Given the description of an element on the screen output the (x, y) to click on. 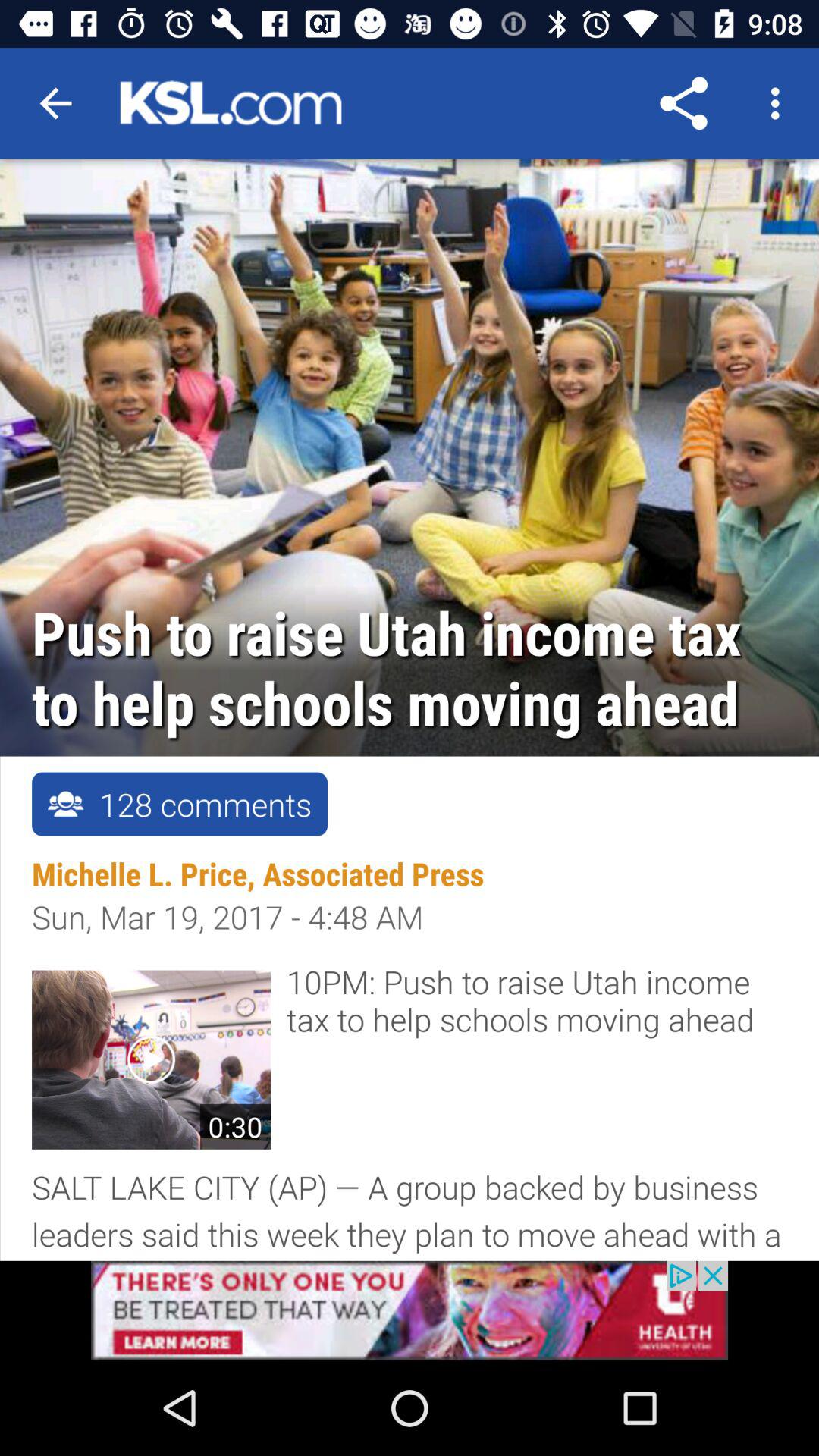
click health advertisement (409, 1310)
